Given the description of an element on the screen output the (x, y) to click on. 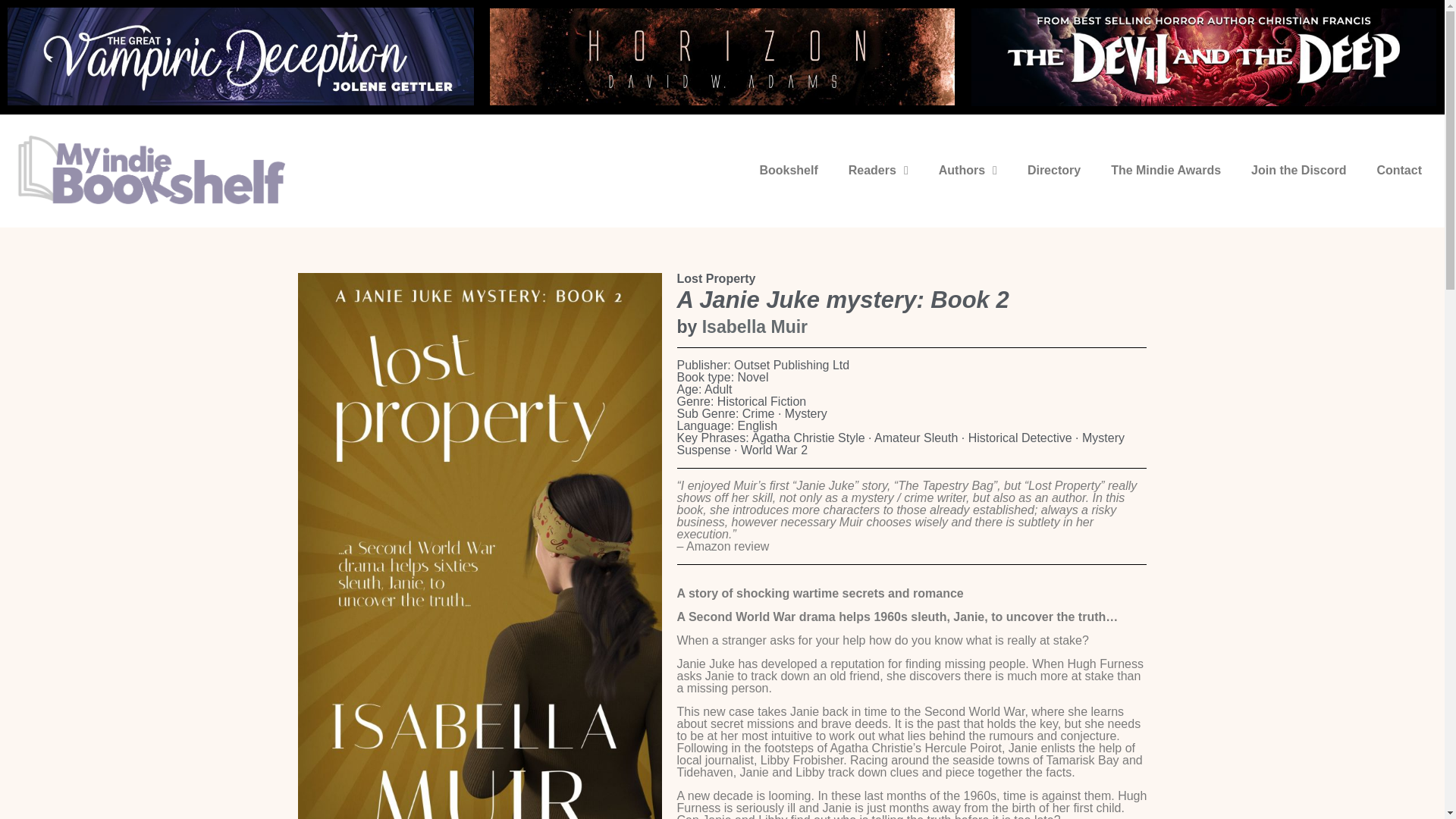
Isabella Muir (754, 326)
Authors (967, 170)
Join the Discord (1298, 170)
Readers (877, 170)
Contact (1399, 170)
Bookshelf (788, 170)
Directory (1053, 170)
The Mindie Awards (1166, 170)
